Given the description of an element on the screen output the (x, y) to click on. 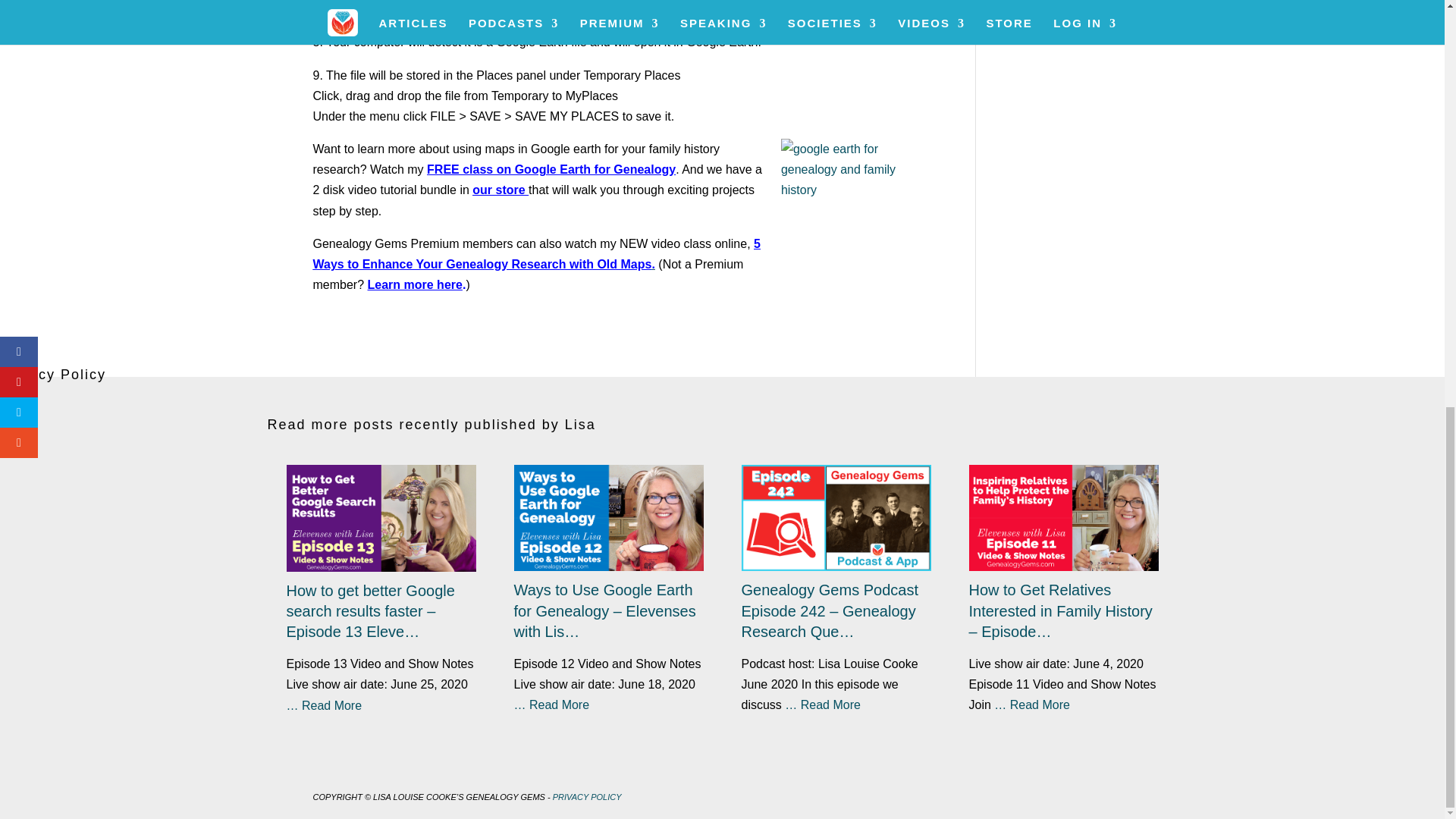
Google Earth for Genealogy (550, 169)
Premium membership (416, 284)
Privacy Policy (43, 401)
